Given the description of an element on the screen output the (x, y) to click on. 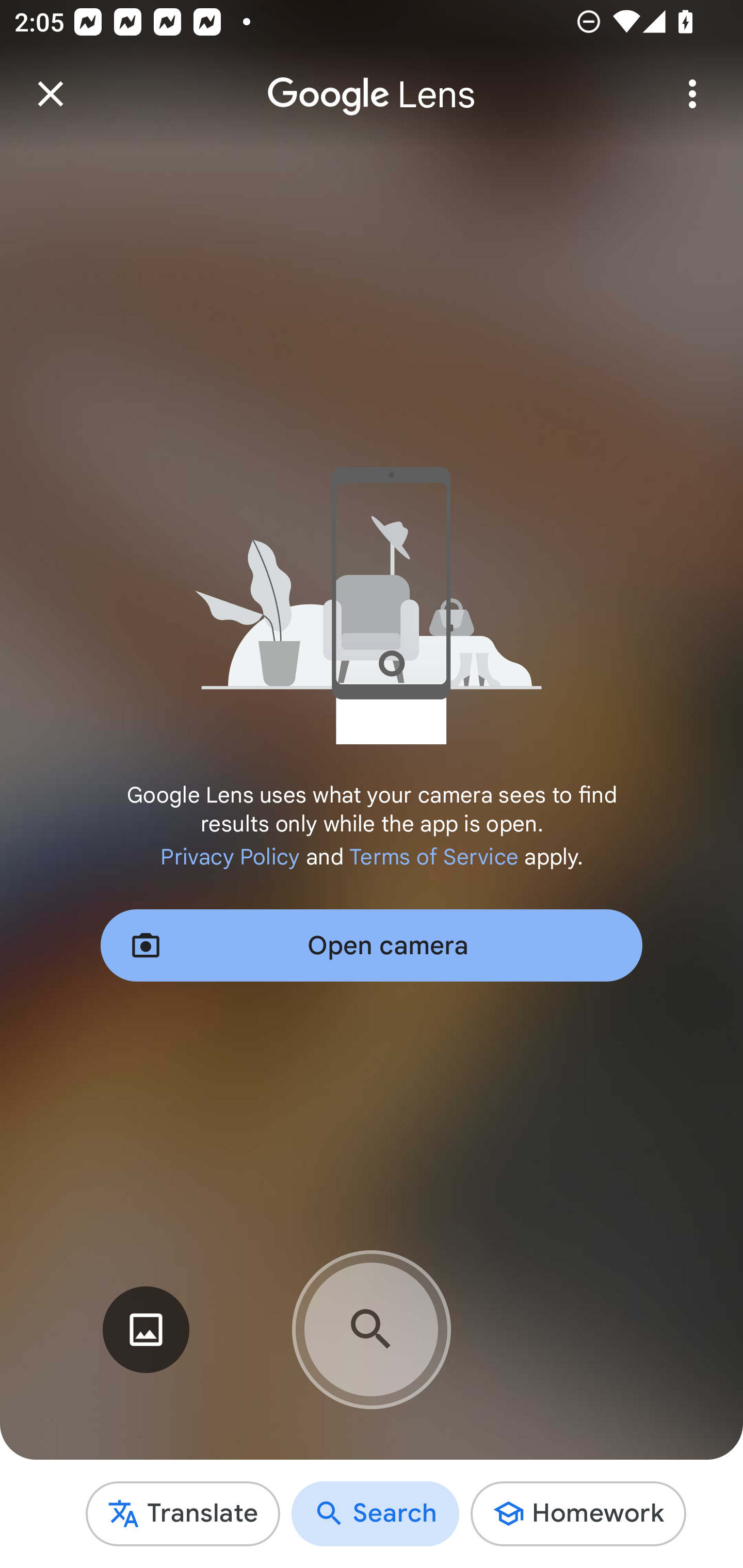
Google Lens Lens (371, 80)
Close (50, 94)
More options (692, 94)
Open camera (371, 945)
Camera search (371, 1329)
Select an image from gallery (145, 1329)
Translate Switch to Translate mode (183, 1513)
Search Switch to Search mode (375, 1513)
Homework Switch to Homework mode (578, 1513)
